Given the description of an element on the screen output the (x, y) to click on. 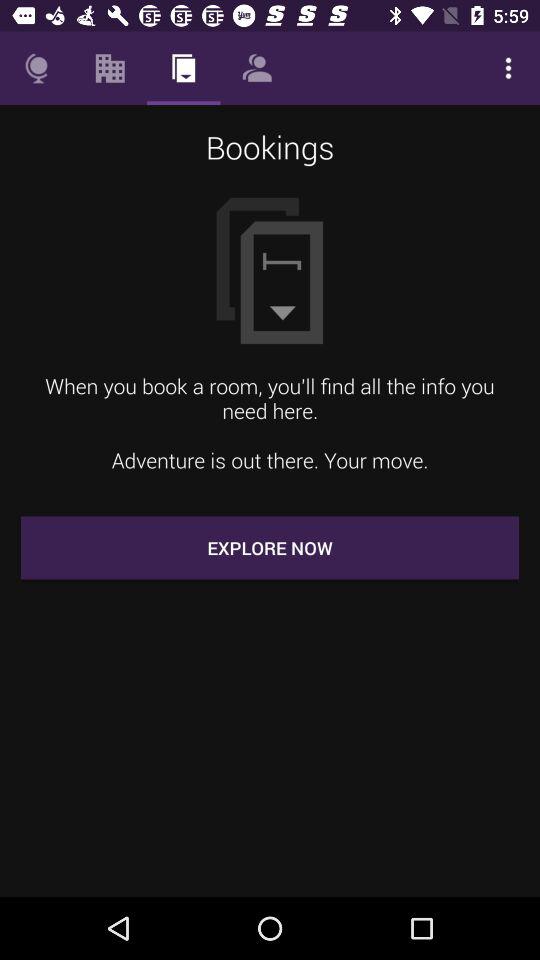
turn on item above the bookings item (36, 68)
